Given the description of an element on the screen output the (x, y) to click on. 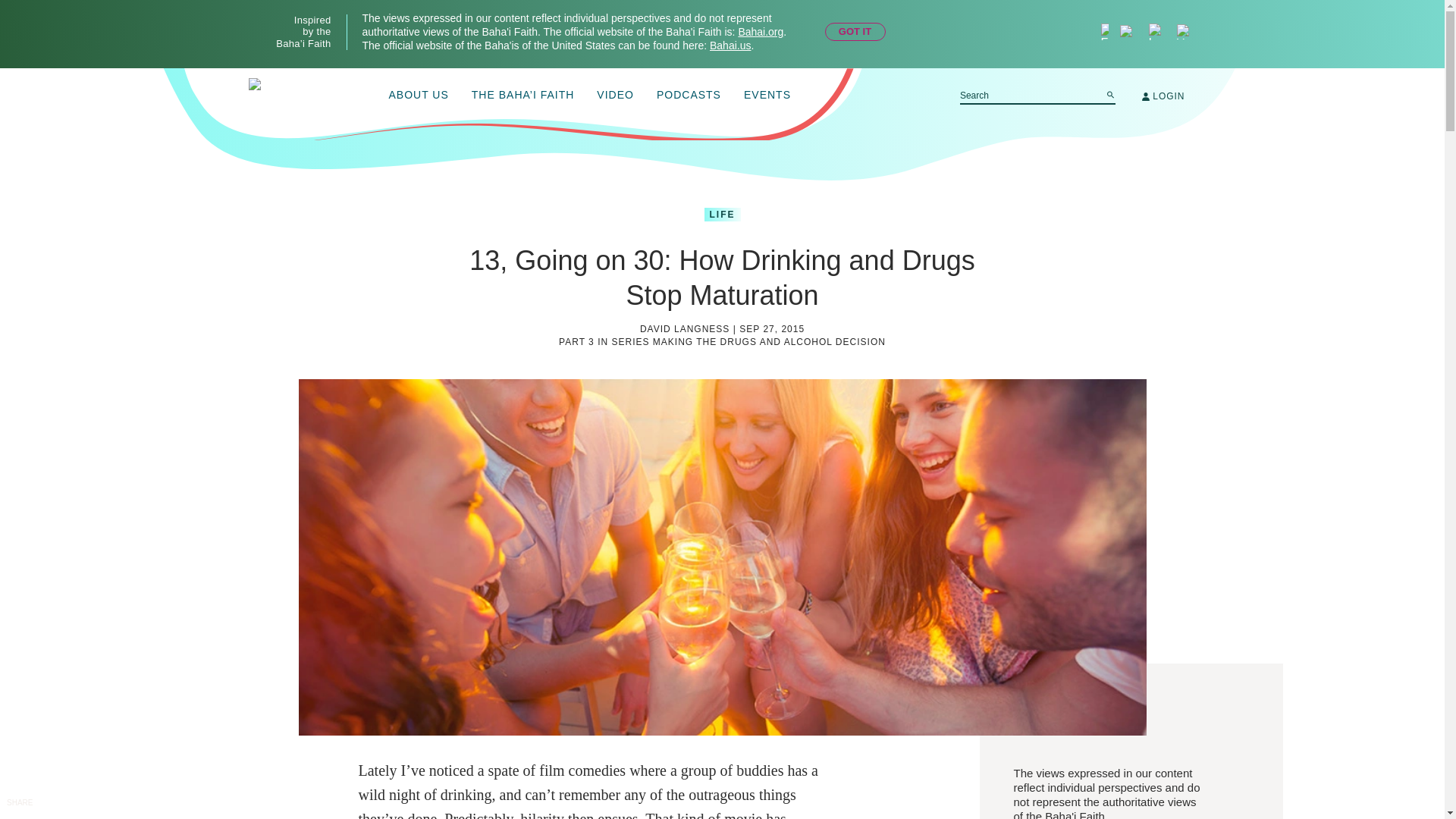
PODCASTS (688, 96)
MAKING THE DRUGS AND ALCOHOL DECISION (768, 341)
LIFE (721, 214)
ABOUT US (418, 96)
Bahai.us (730, 45)
Bahai.org (760, 31)
Search for: (1037, 95)
GOT IT (855, 31)
Share on Twitter (18, 814)
Search (1110, 94)
